Given the description of an element on the screen output the (x, y) to click on. 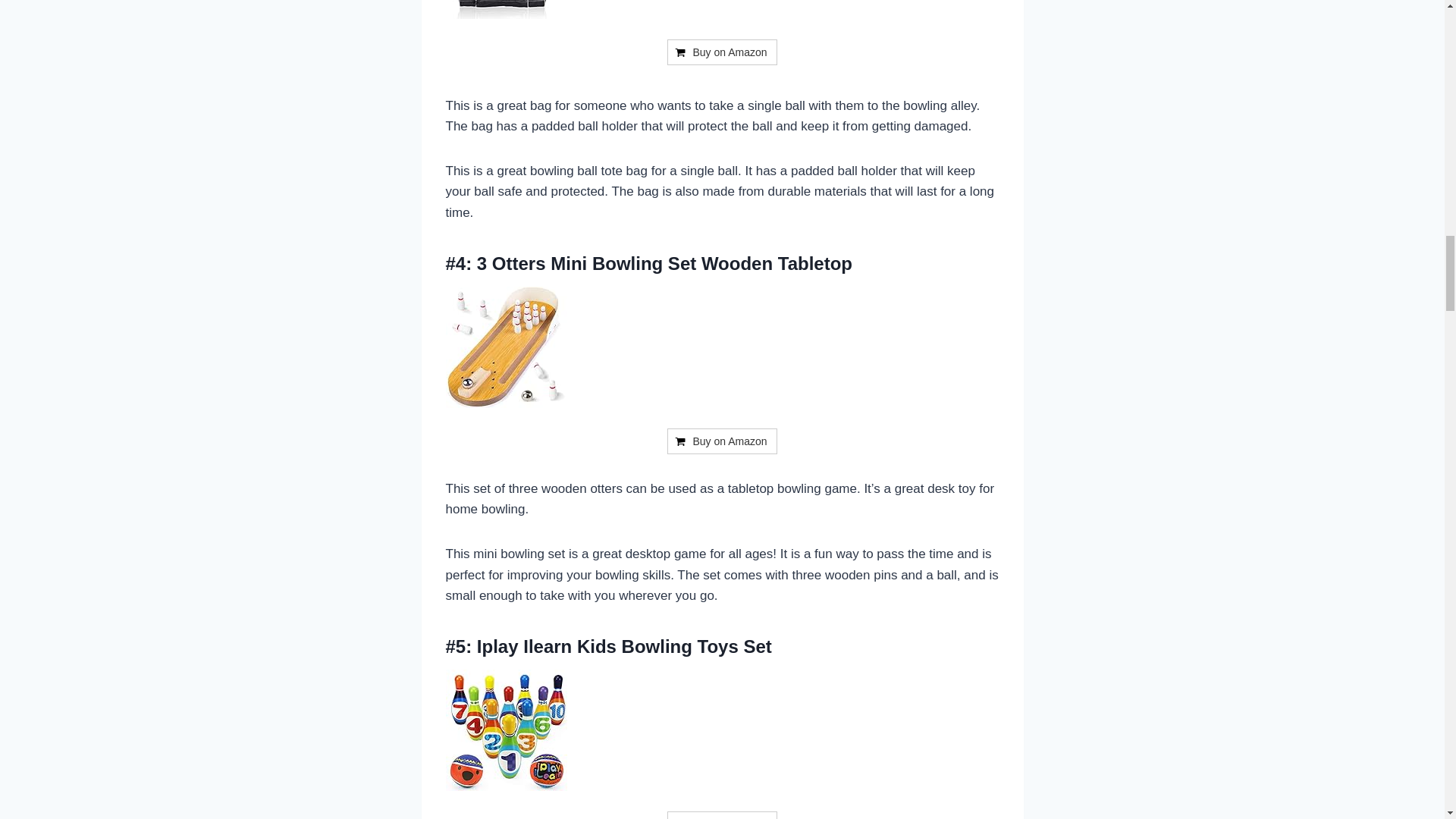
Buy on Amazon (721, 52)
Buy on Amazon (721, 815)
Buy on Amazon (721, 441)
Buy on Amazon (721, 441)
Buy on Amazon (721, 52)
Buy on Amazon (721, 815)
